Given the description of an element on the screen output the (x, y) to click on. 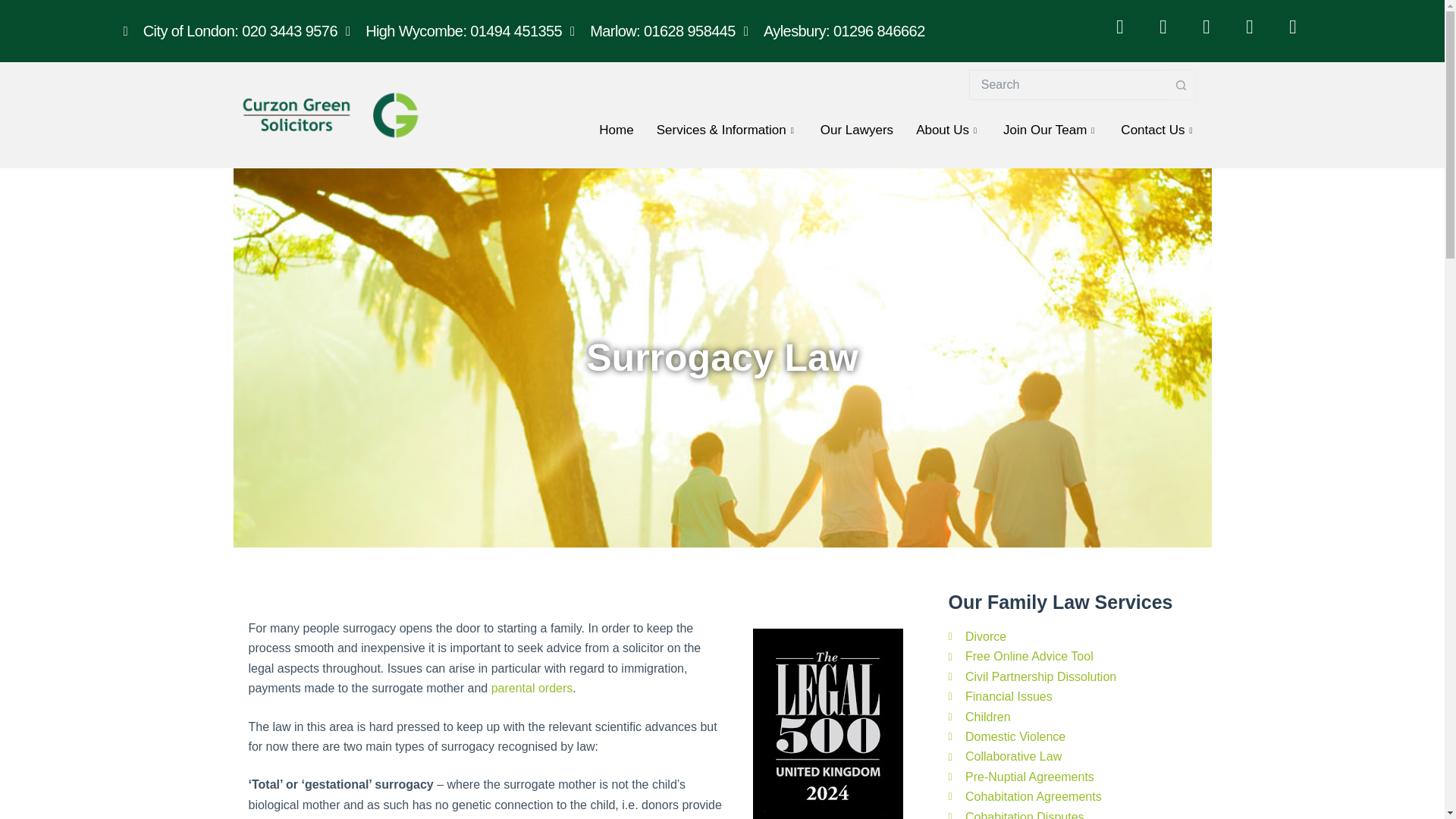
High Wycombe: 01494 451355 (454, 30)
Home (616, 129)
City of London: 020 3443 9576 (229, 30)
Marlow: 01628 958445 (652, 30)
Search for... (1067, 84)
Skip to content (15, 7)
Aylesbury: 01296 846662 (834, 30)
